Given the description of an element on the screen output the (x, y) to click on. 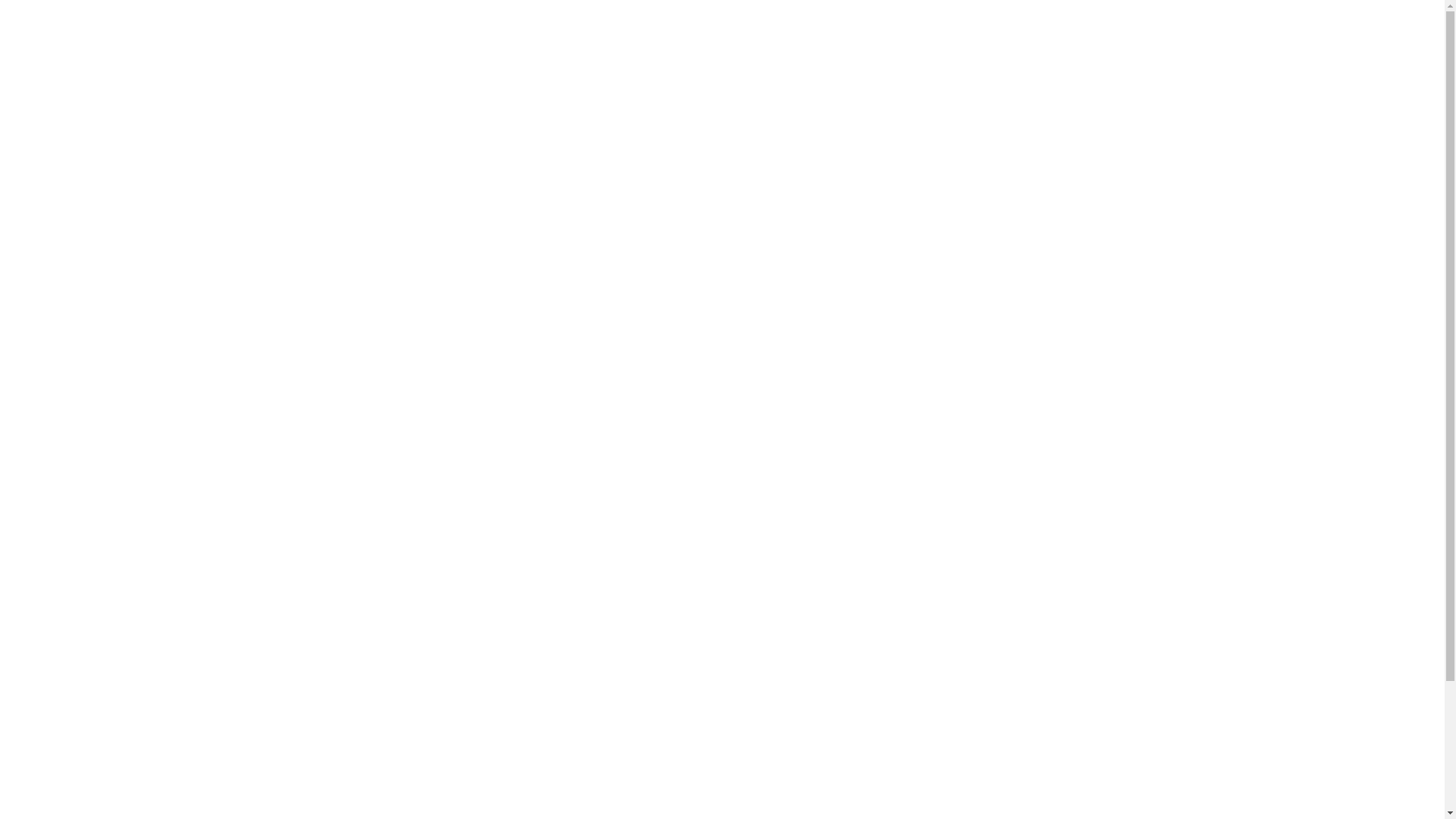
MENU Element type: text (1358, 50)
